Given the description of an element on the screen output the (x, y) to click on. 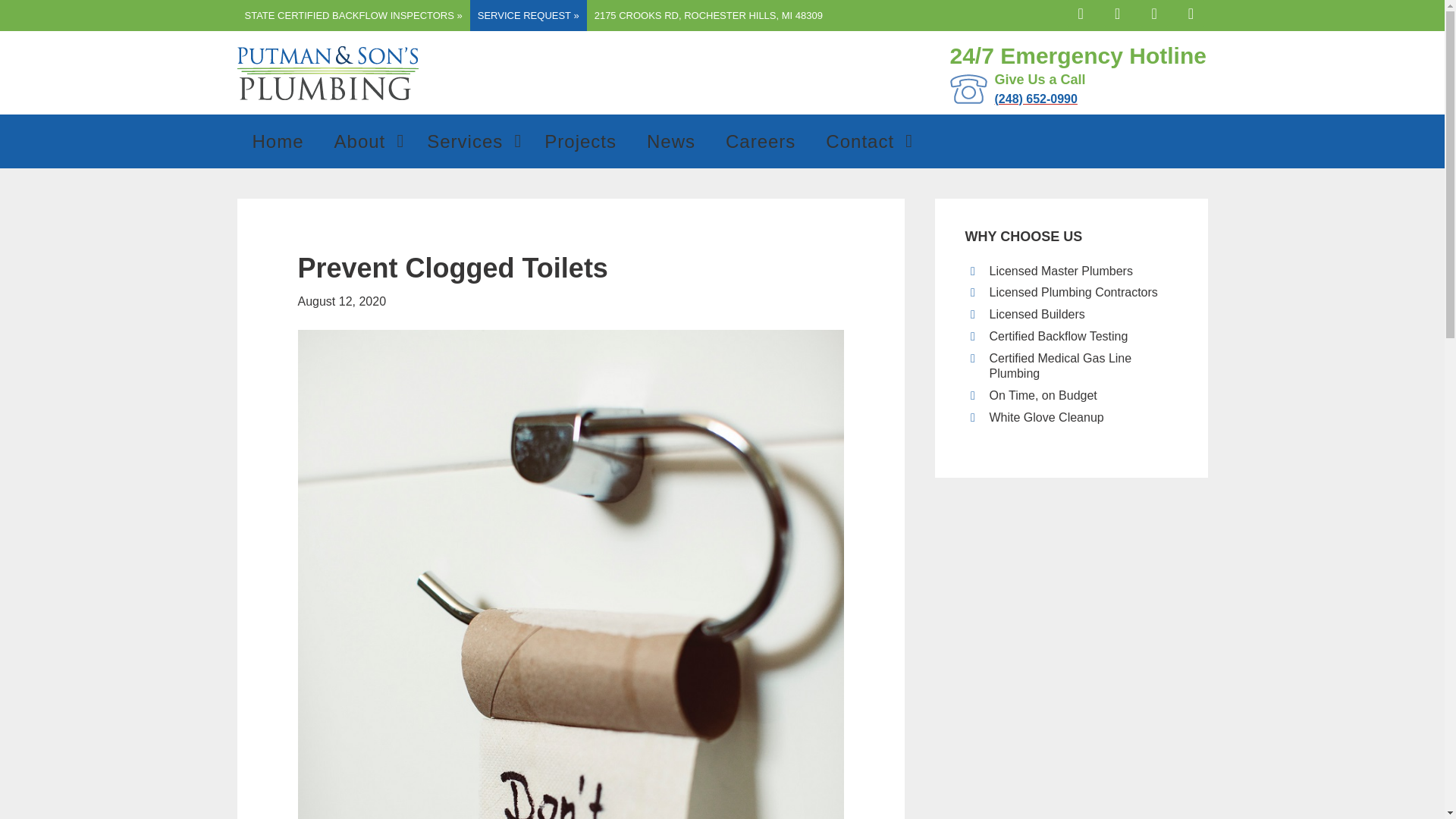
News (670, 141)
2175 CROOKS RD, ROCHESTER HILLS, MI 48309 (577, 141)
Facebook (707, 15)
Projects (1082, 11)
About (580, 141)
Skip to primary navigation (365, 141)
twitter (1082, 11)
Instagram (1118, 11)
youtube (1155, 11)
Services (1155, 11)
Default Label (470, 141)
Twitter (1190, 11)
map-marker (1118, 11)
